Given the description of an element on the screen output the (x, y) to click on. 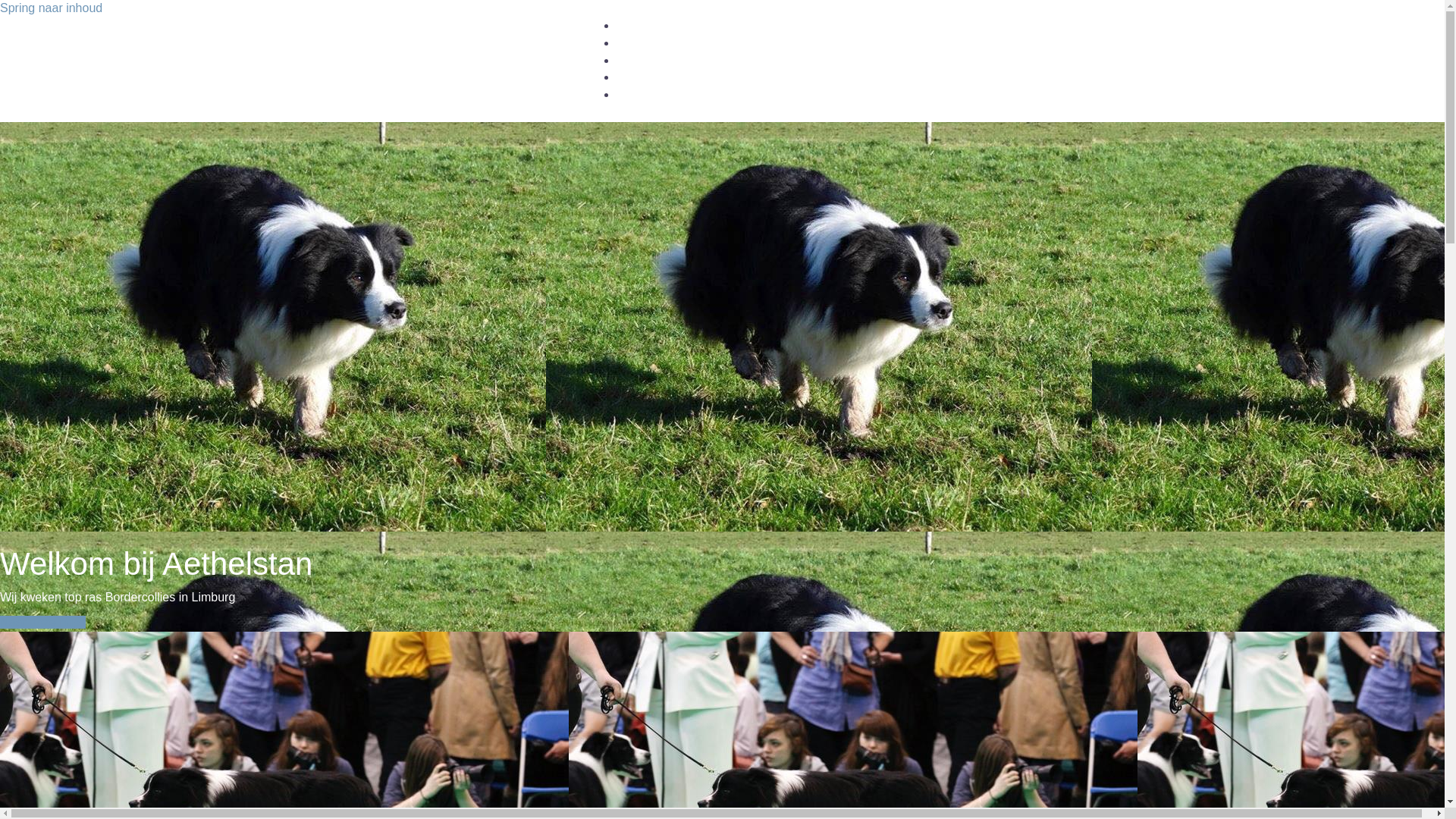
Onze pups Element type: text (641, 25)
Ras Border Collies in Limburg te koop Element type: text (403, 58)
Naar onze pups Element type: text (42, 621)
Over Aethelstan Element type: text (653, 60)
Spring naar inhoud Element type: text (51, 7)
Onze honden Element type: text (647, 43)
Over Border Collie Element type: text (658, 77)
Contact Element type: text (633, 94)
